Given the description of an element on the screen output the (x, y) to click on. 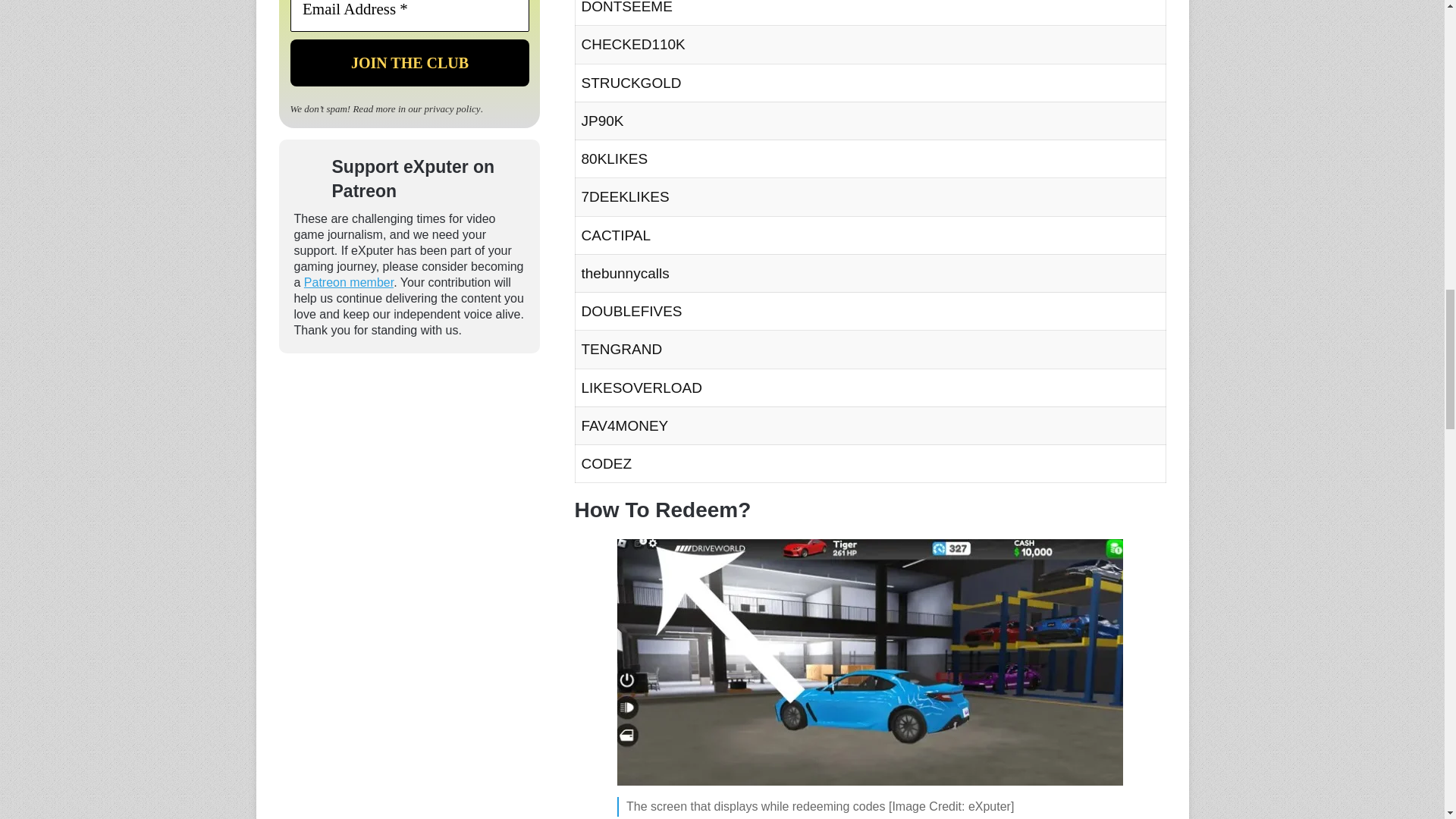
JOIN THE  CLUB (408, 62)
Email Address (408, 15)
